Given the description of an element on the screen output the (x, y) to click on. 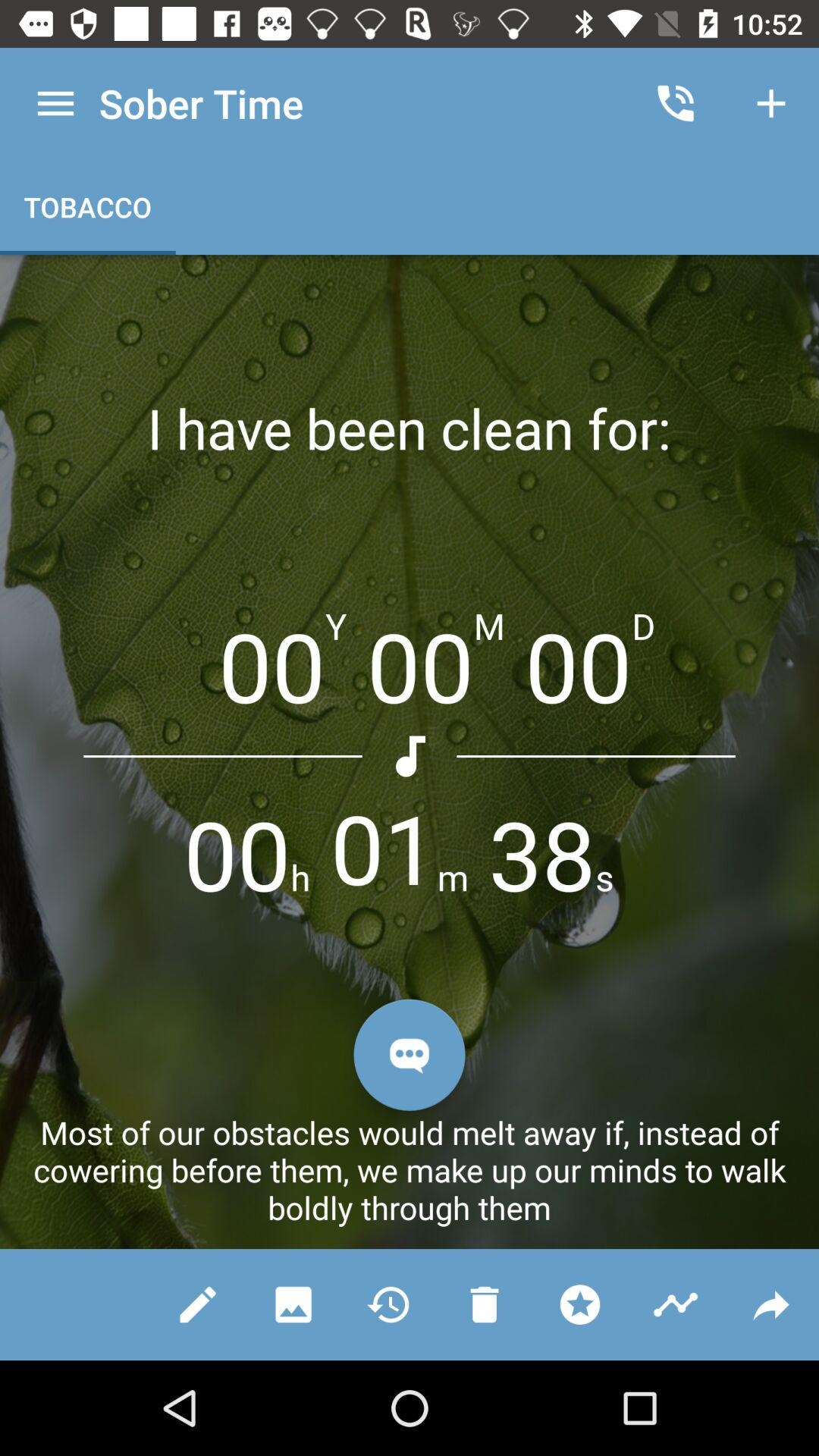
menu option (55, 103)
